Given the description of an element on the screen output the (x, y) to click on. 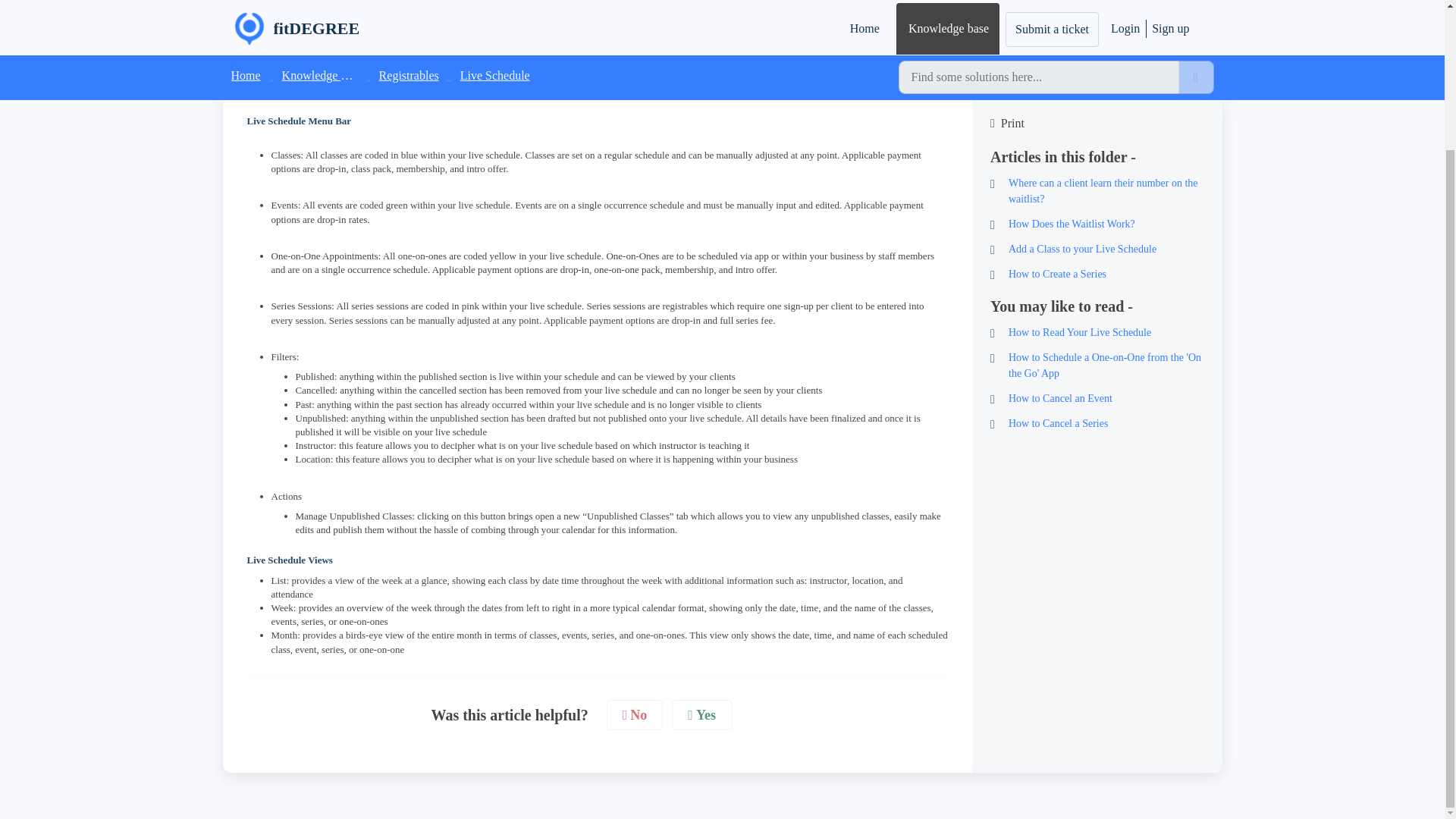
How to Schedule a One-on-One from the 'On the Go' App (1097, 365)
How to Cancel an Event (1097, 398)
How to Cancel a Series (1097, 423)
Yes (701, 715)
Where can a client learn their number on the waitlist? (1097, 191)
Print (1097, 123)
How to Read Your Live Schedule (1097, 332)
How Does the Waitlist Work? (1097, 223)
No (635, 715)
Add a Class to your Live Schedule (1097, 248)
